Given the description of an element on the screen output the (x, y) to click on. 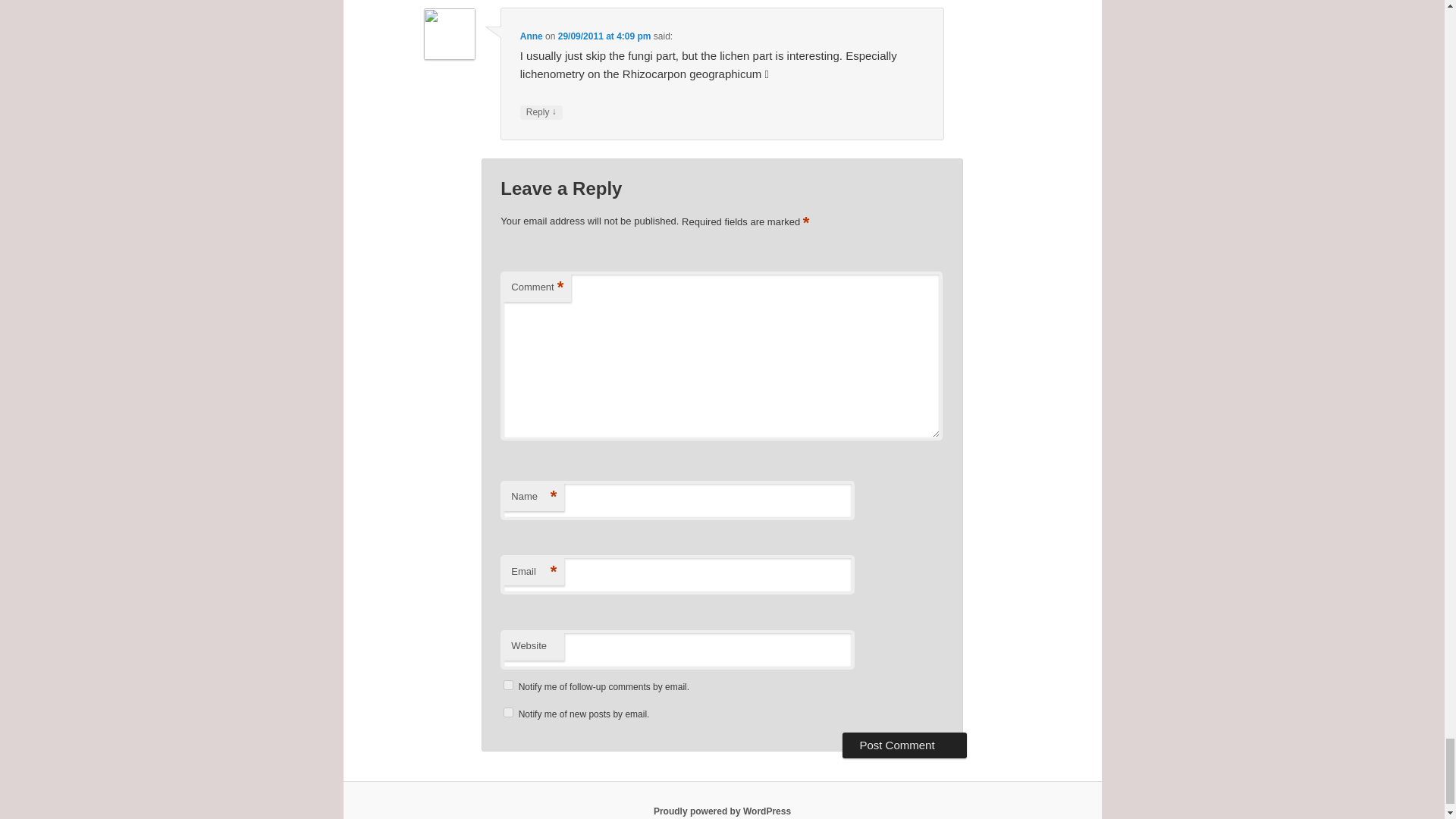
subscribe (508, 712)
subscribe (508, 685)
Post Comment (904, 745)
